Given the description of an element on the screen output the (x, y) to click on. 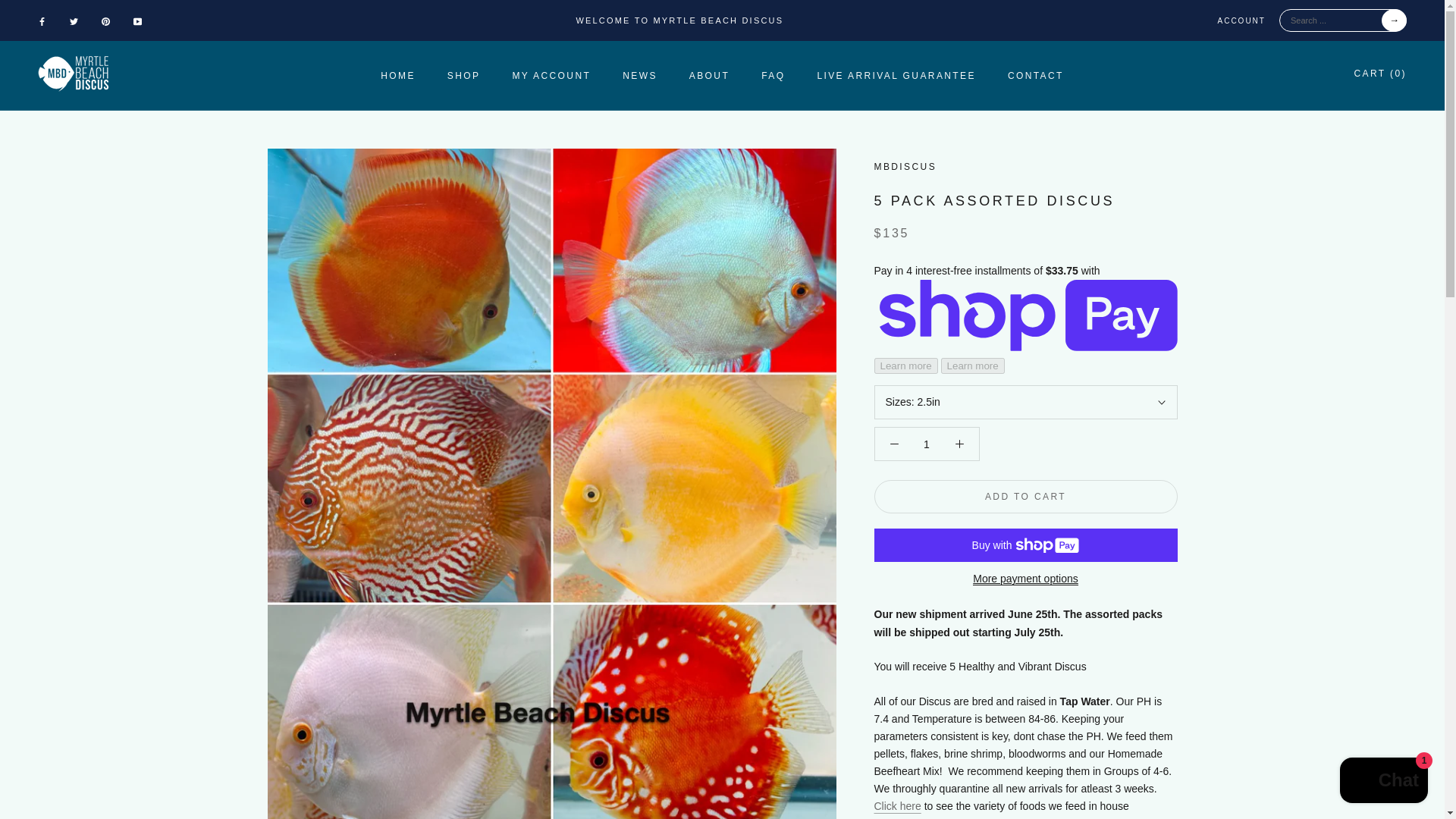
SHOP (397, 75)
1 (895, 75)
Shopify online store chat (463, 75)
Discus nutrition and foods (925, 444)
ACCOUNT (772, 75)
